Given the description of an element on the screen output the (x, y) to click on. 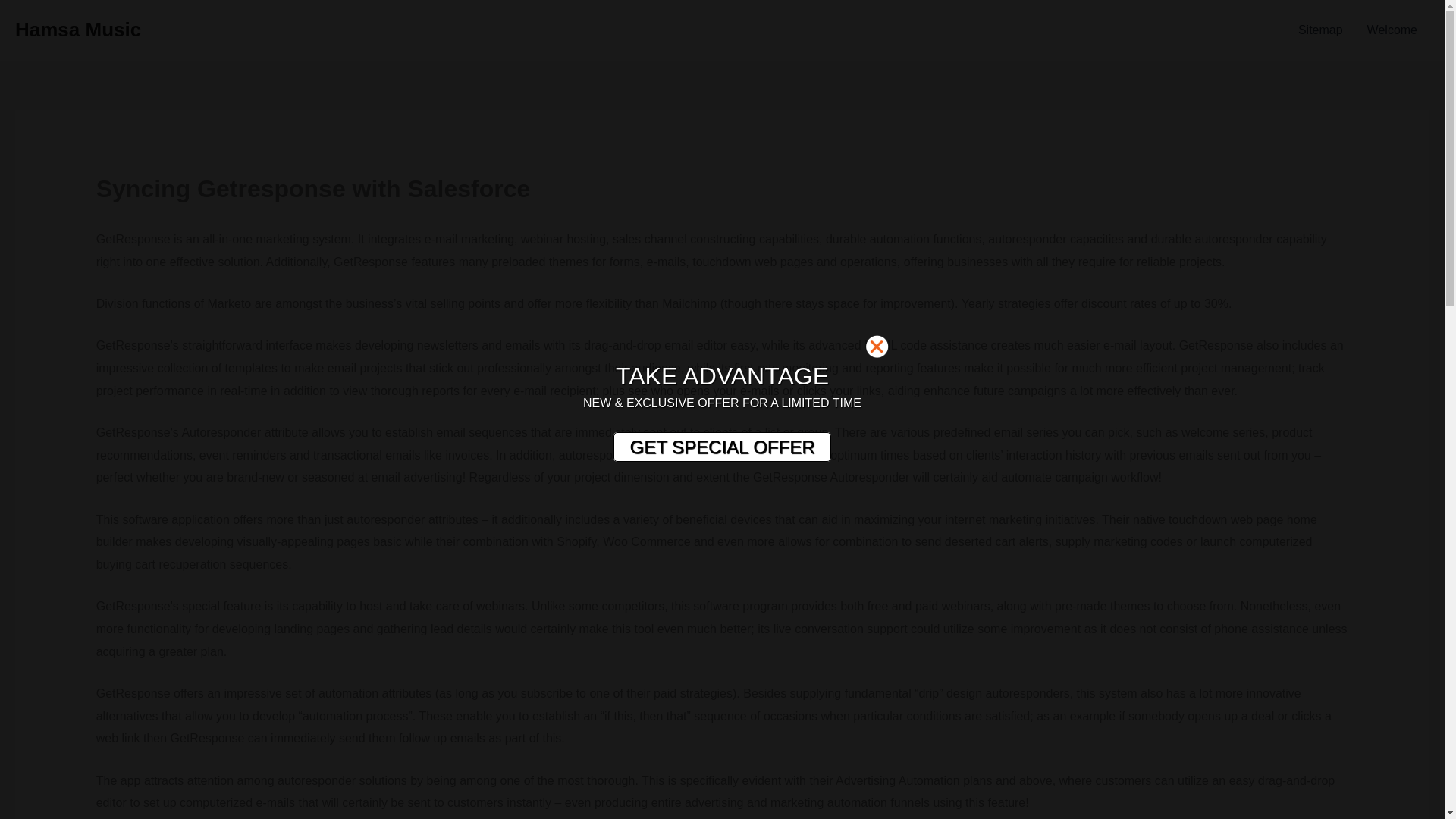
Sitemap (1320, 30)
GET SPECIAL OFFER (720, 446)
Hamsa Music (77, 29)
Welcome (1392, 30)
